Given the description of an element on the screen output the (x, y) to click on. 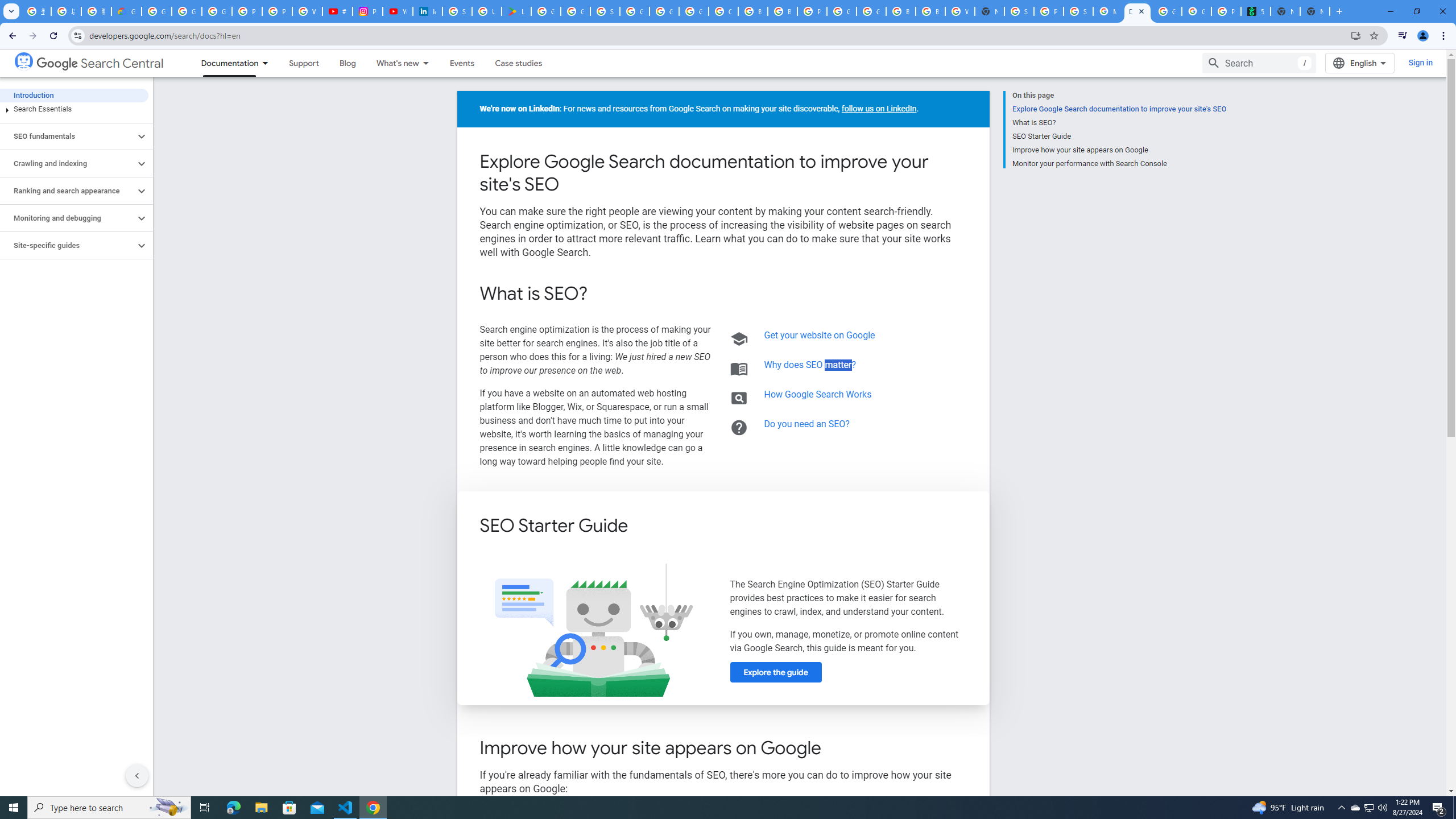
What's new (392, 62)
Dropdown menu for Documentation (268, 62)
Events (461, 62)
SEO fundamentals (67, 136)
Sign in - Google Accounts (456, 11)
Copy link to this section: What is SEO?  (602, 294)
